Given the description of an element on the screen output the (x, y) to click on. 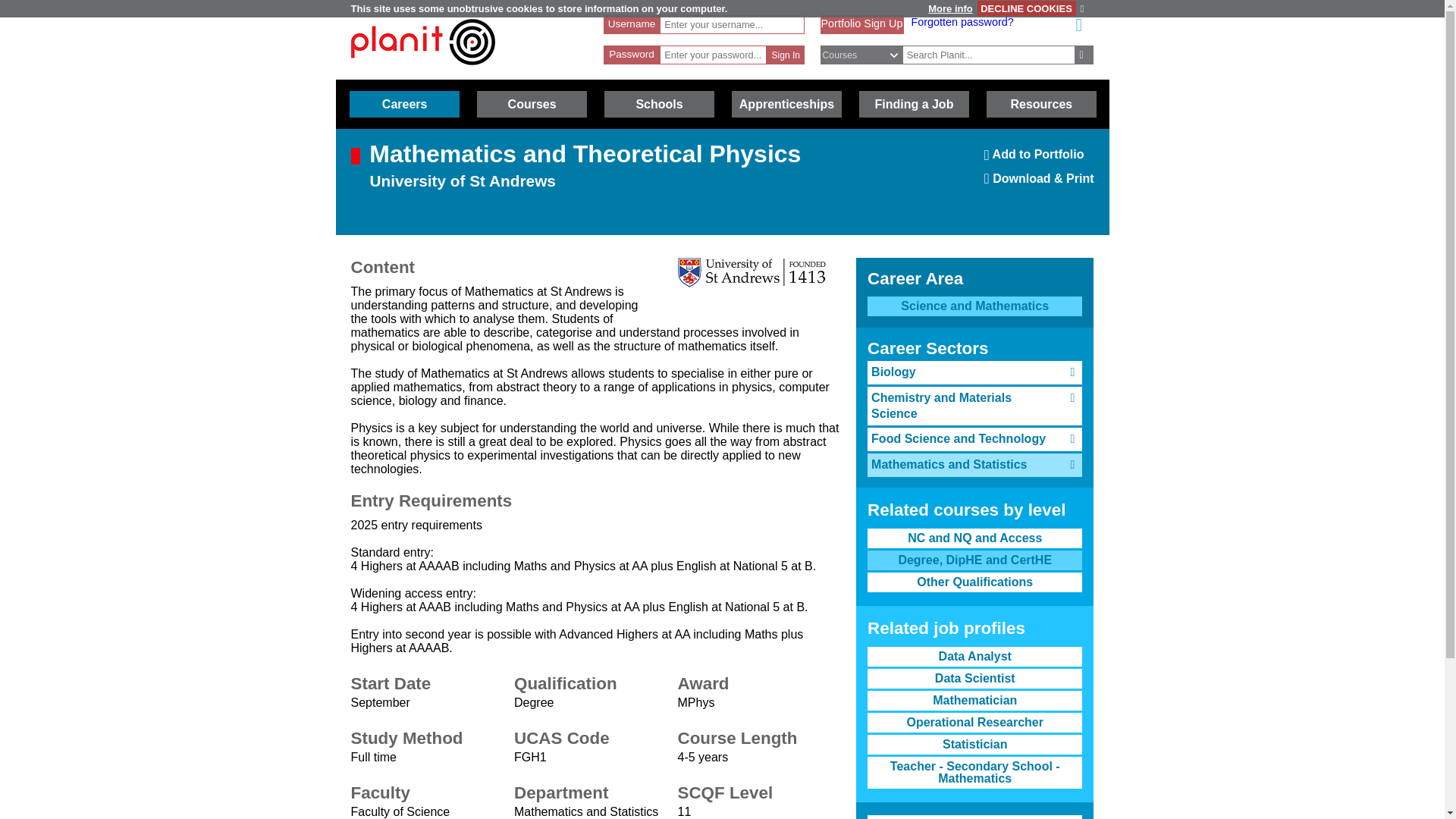
Sign In (786, 54)
Portfolio Sign Up (861, 23)
Forgotten password? (962, 21)
Careers (404, 103)
Courses (531, 103)
Search (1084, 54)
Sign In (786, 54)
Planit Home (422, 72)
DECLINE COOKIES (1025, 7)
More info (949, 8)
Select search type (869, 54)
Enter text to search Planit (988, 54)
Planit (422, 41)
Resources (1039, 159)
